Given the description of an element on the screen output the (x, y) to click on. 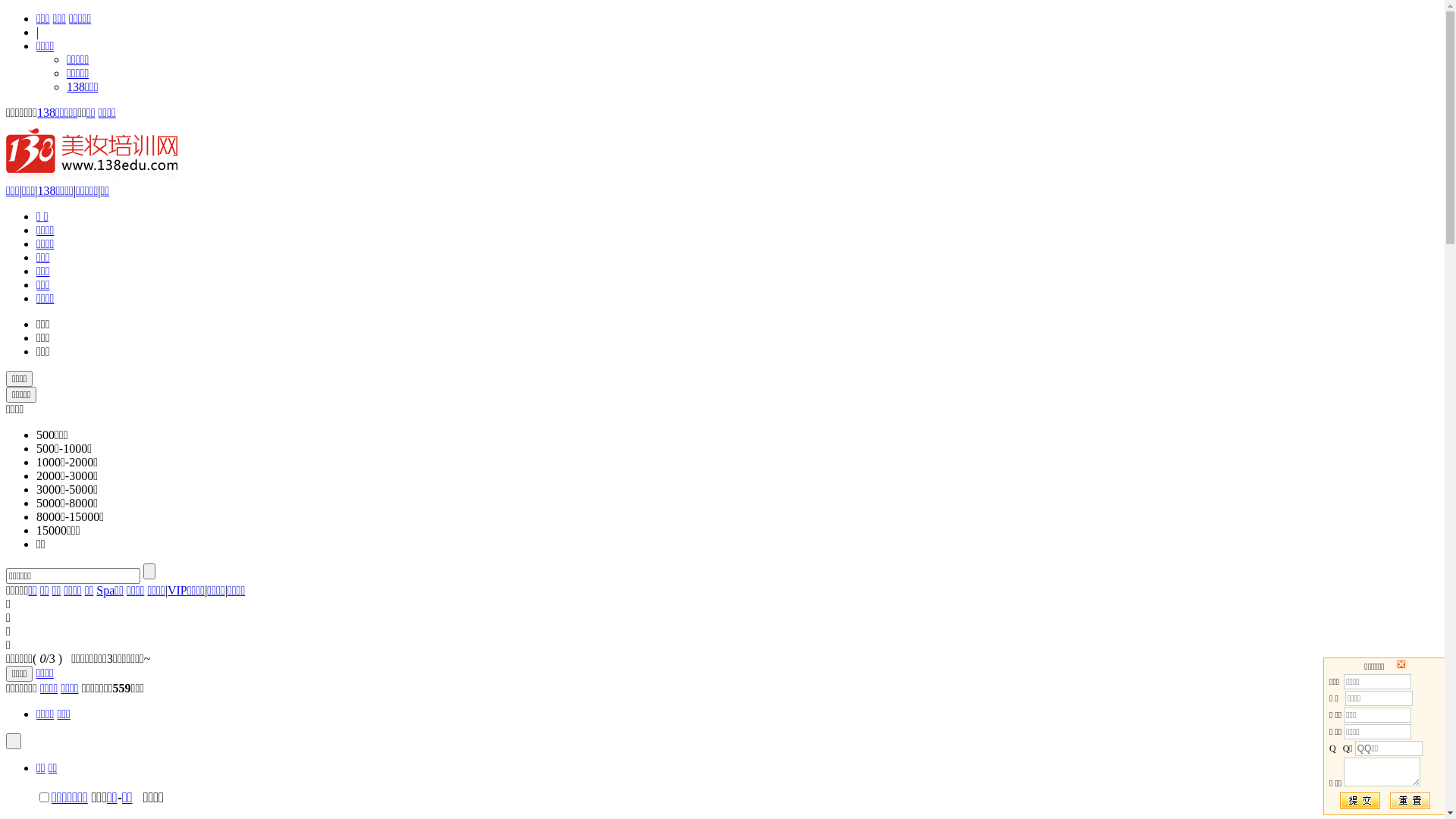
  Element type: text (13, 741)
